Given the description of an element on the screen output the (x, y) to click on. 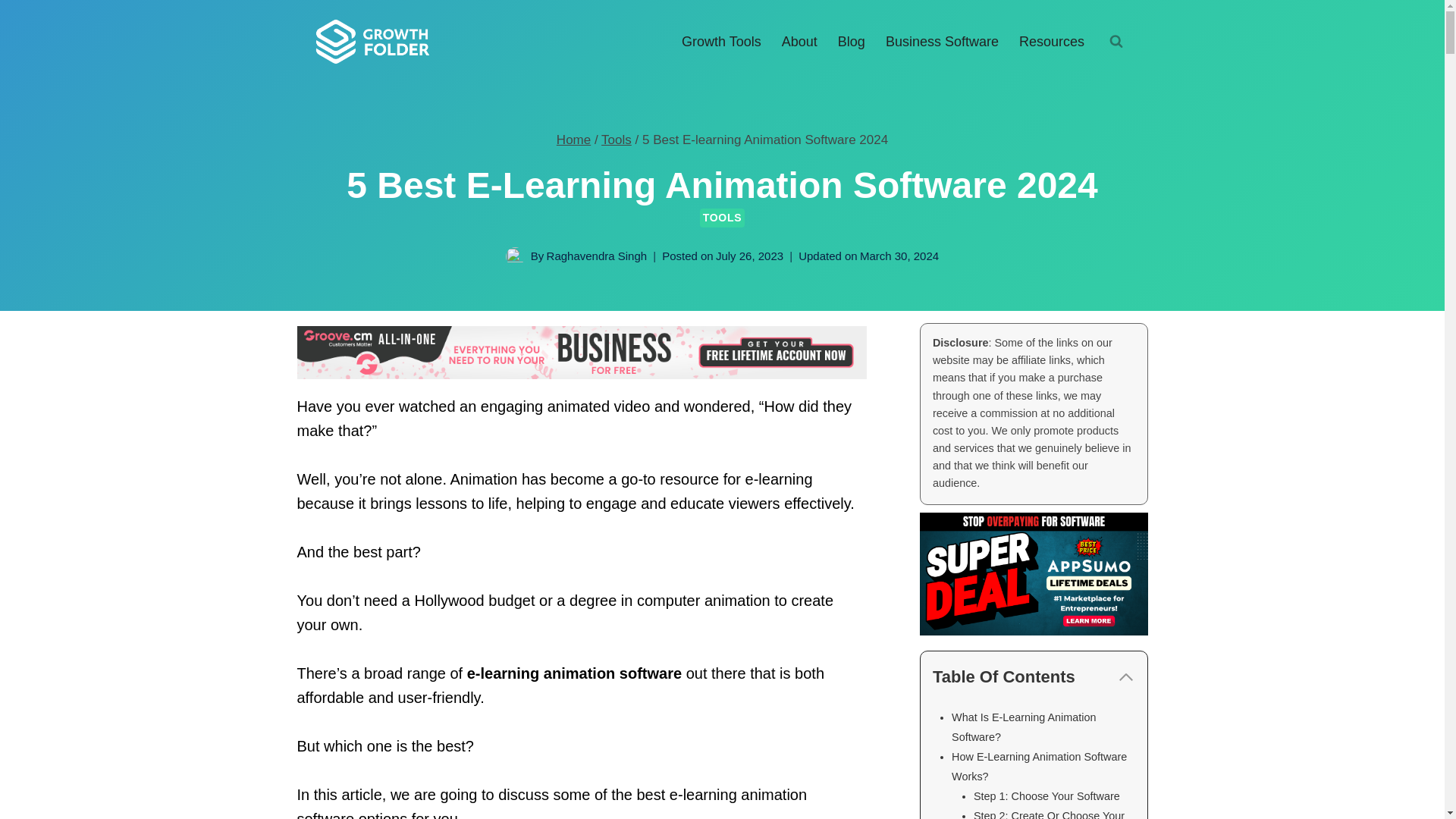
Resources (1051, 41)
Business Software (942, 41)
About (799, 41)
TOOLS (722, 217)
Home (573, 139)
Blog (851, 41)
Growth Tools (721, 41)
Raghavendra Singh (597, 255)
Tools (616, 139)
